Given the description of an element on the screen output the (x, y) to click on. 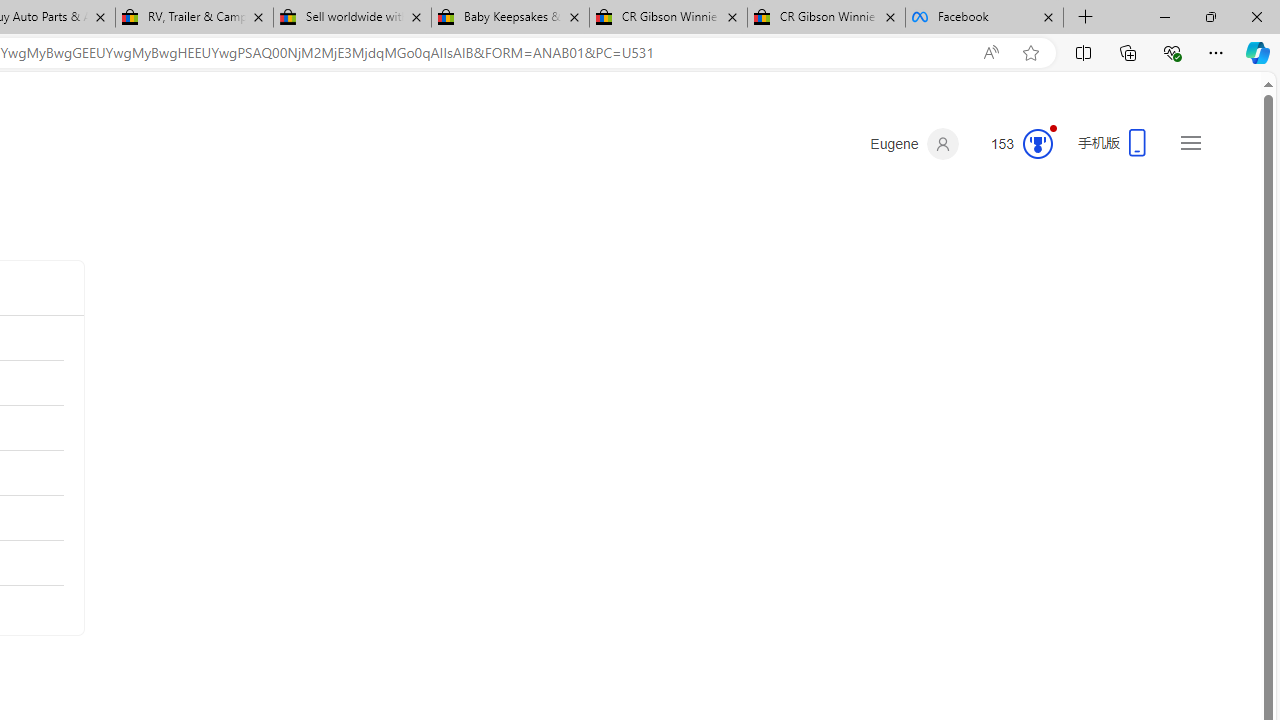
Eugene (914, 143)
Read aloud this page (Ctrl+Shift+U) (991, 53)
Close tab (1048, 16)
Restore (1210, 16)
Facebook (984, 17)
Baby Keepsakes & Announcements for sale | eBay (509, 17)
Microsoft Rewards 153 (1014, 143)
Browser essentials (1171, 52)
Settings and more (Alt+F) (1215, 52)
Split screen (1083, 52)
Minimize (1164, 16)
RV, Trailer & Camper Steps & Ladders for sale | eBay (194, 17)
Close (1256, 16)
